Given the description of an element on the screen output the (x, y) to click on. 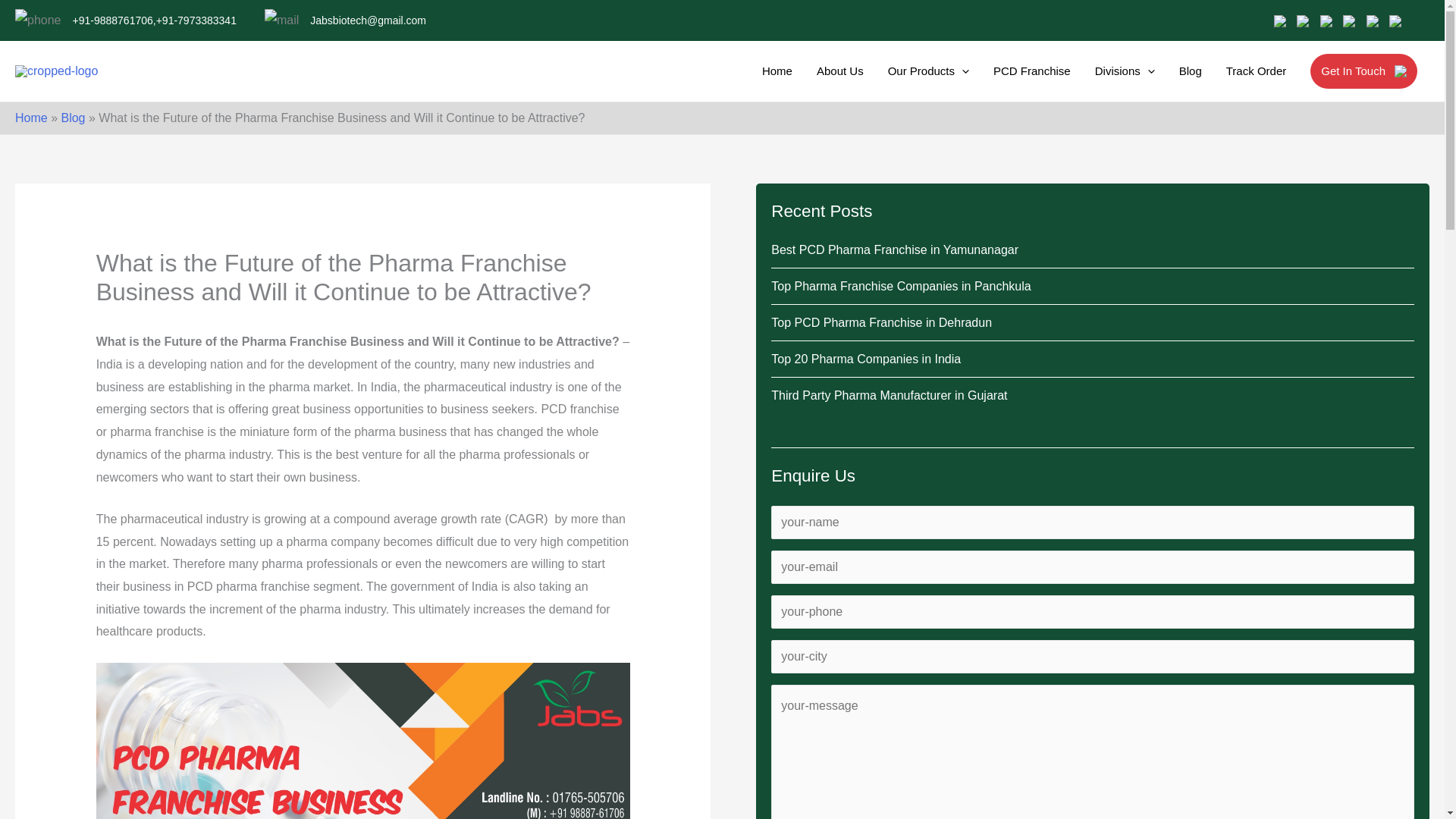
Divisions (1121, 86)
About Us (836, 86)
Our Products (925, 86)
Get In Touch (1361, 86)
Track Order (1252, 86)
PCD Franchise (1028, 86)
